Given the description of an element on the screen output the (x, y) to click on. 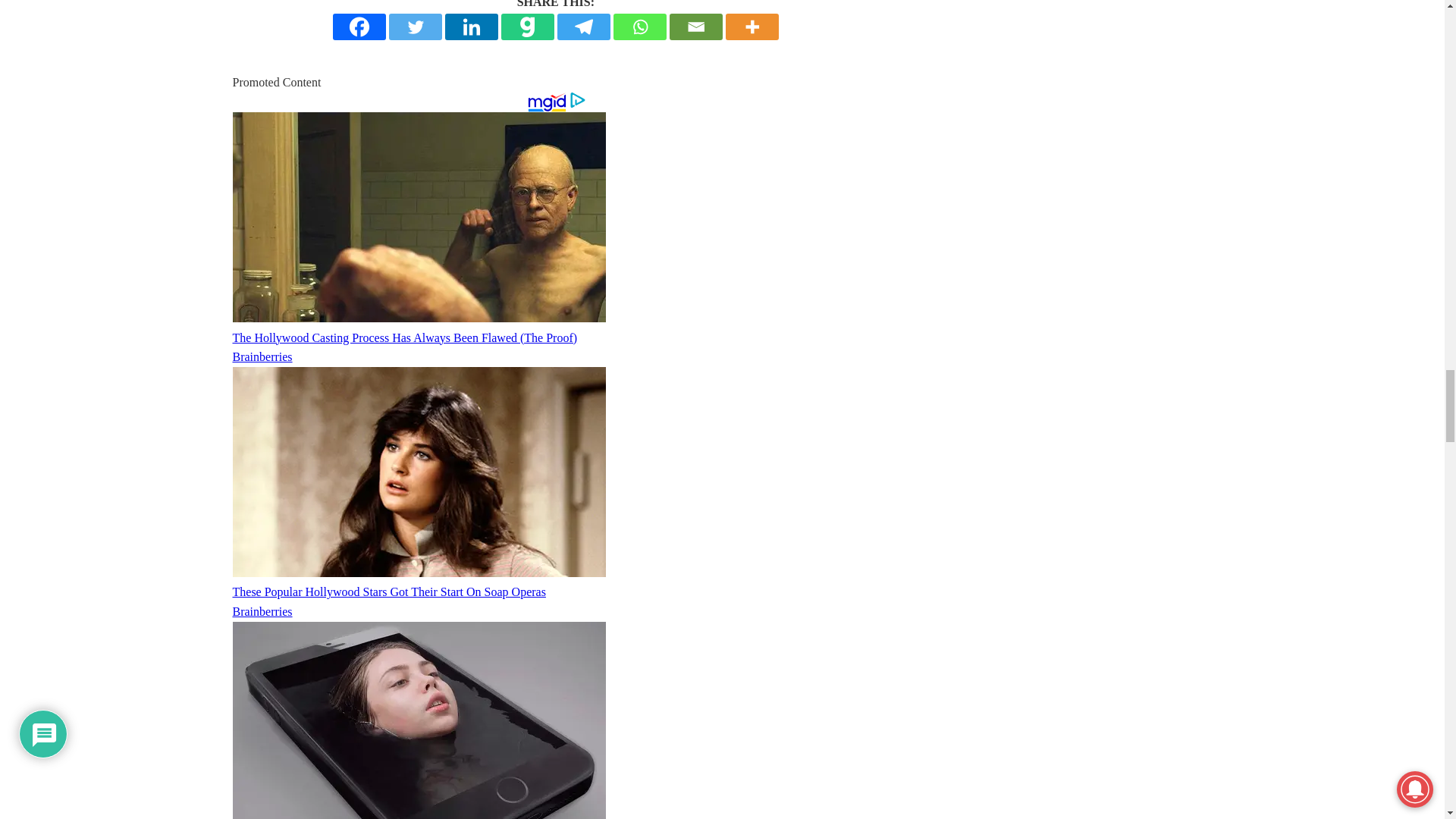
Email (695, 26)
Telegram (583, 26)
Twitter (415, 26)
Facebook (359, 26)
Linkedin (471, 26)
More (751, 26)
Whatsapp (639, 26)
Gab (527, 26)
